Given the description of an element on the screen output the (x, y) to click on. 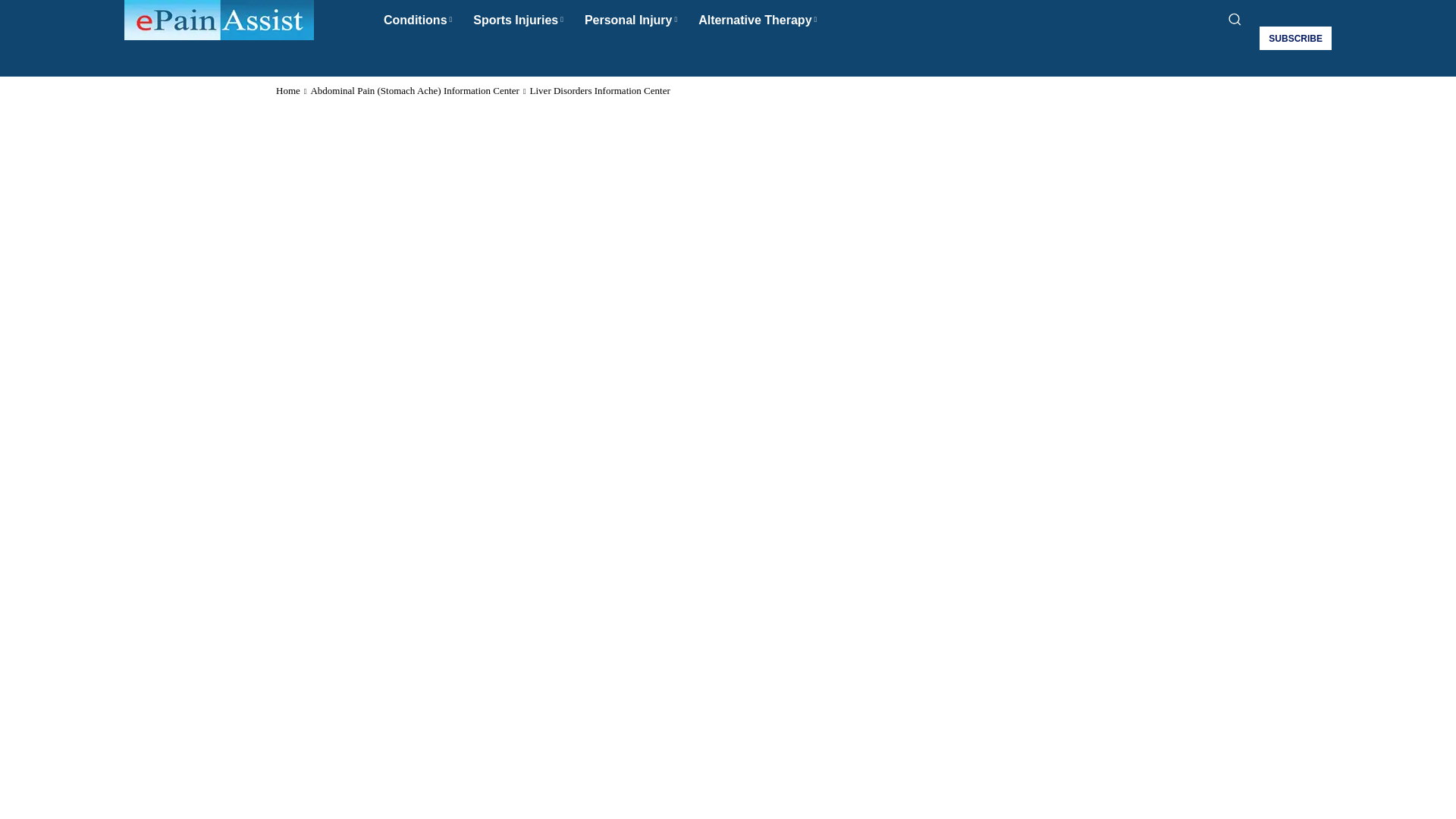
View all posts in Liver Disorders Information Center (599, 90)
Search (727, 55)
